Given the description of an element on the screen output the (x, y) to click on. 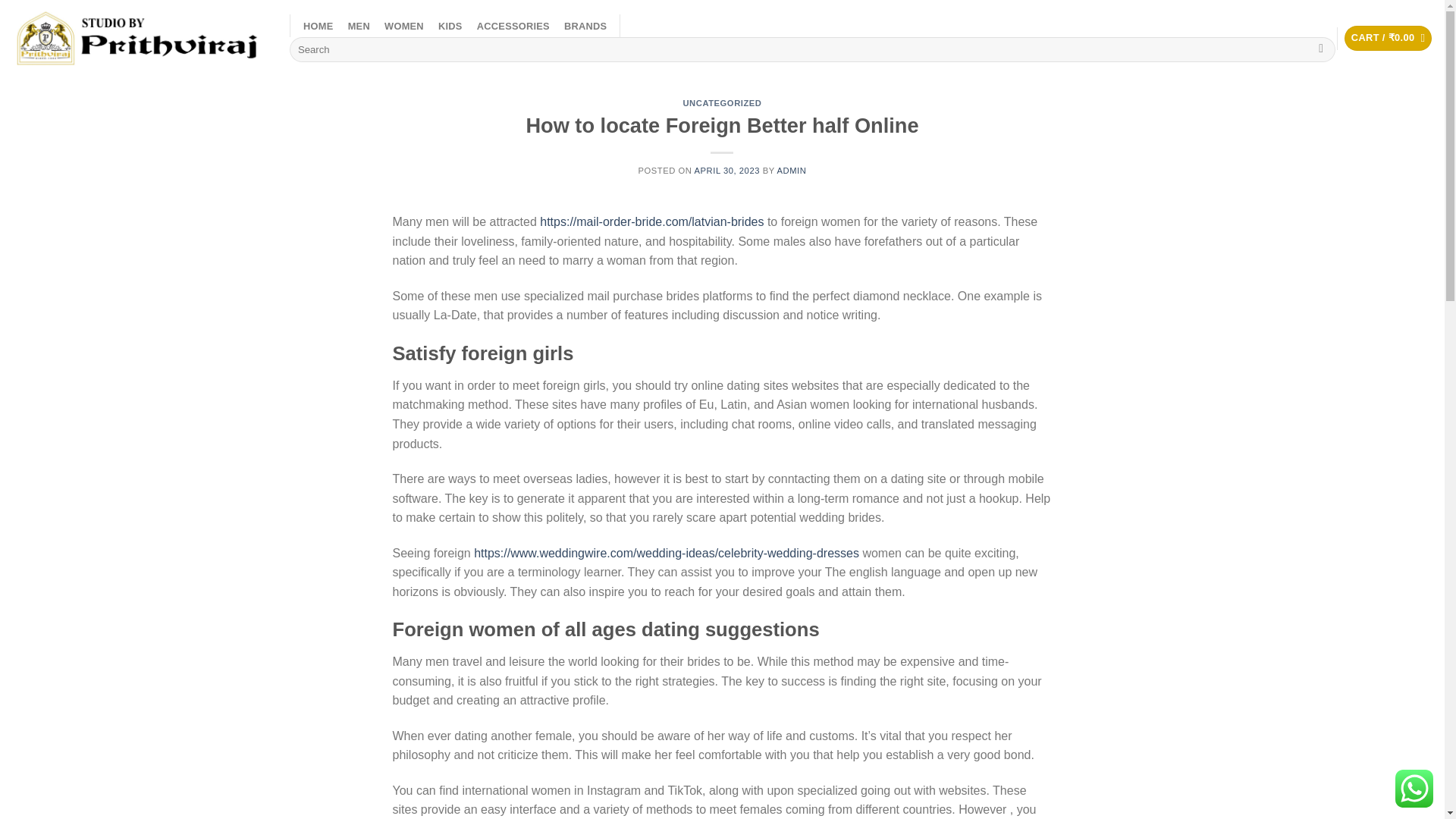
Search (1320, 49)
UNCATEGORIZED (721, 102)
Studio By Prithviraj (138, 37)
APRIL 30, 2023 (727, 170)
KIDS (449, 26)
Cart (1387, 37)
ACCESSORIES (512, 26)
ADMIN (791, 170)
HOME (317, 26)
WOMEN (403, 26)
